Given the description of an element on the screen output the (x, y) to click on. 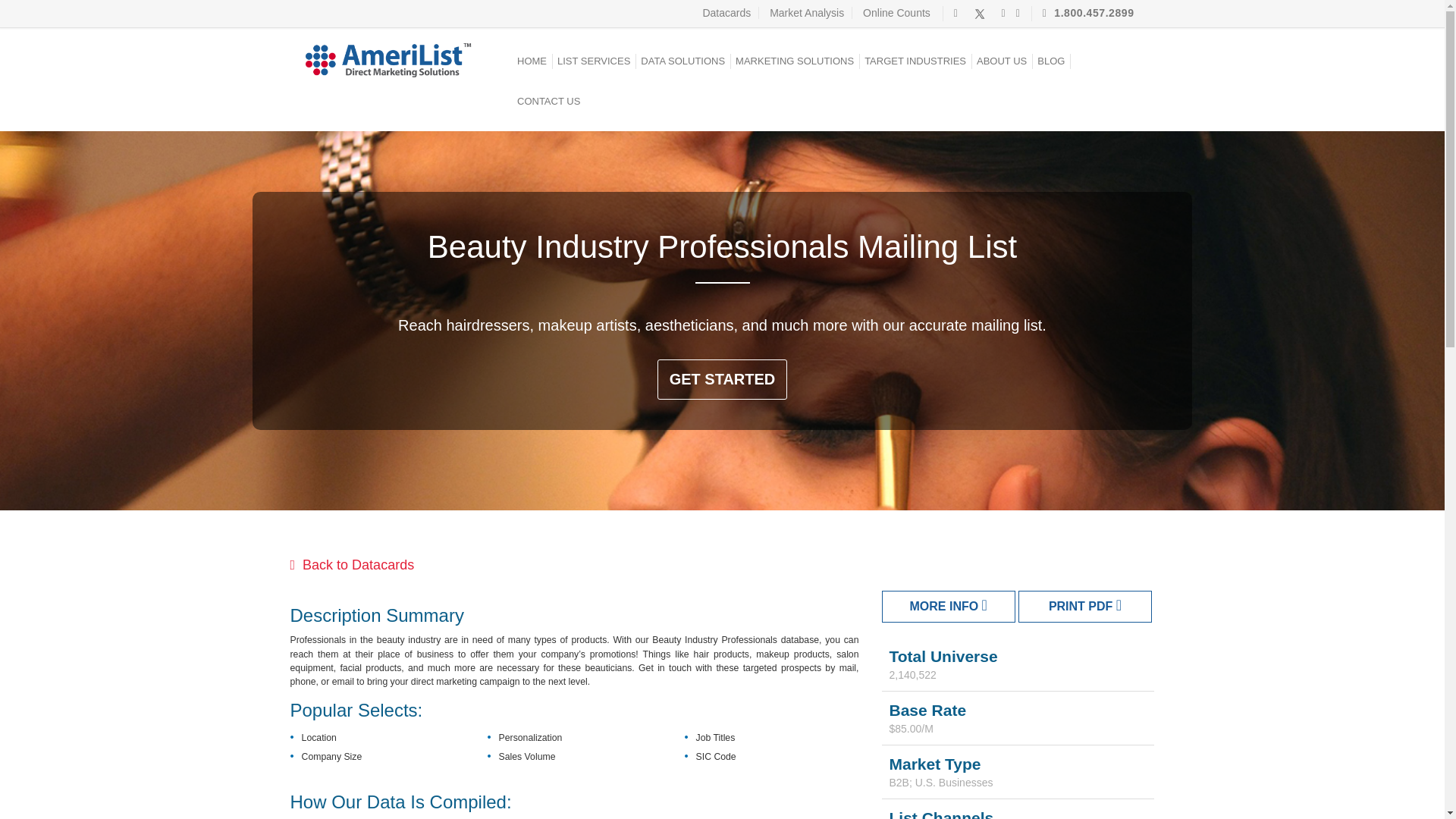
1.800.457.2899 (1084, 12)
twitter (979, 12)
HOME (531, 67)
Datacards (729, 12)
List Services (592, 67)
Home (531, 67)
Datacards (729, 12)
Market Analysis (806, 12)
Online Counts (896, 12)
Online Counts (896, 12)
DATA SOLUTIONS (682, 67)
LIST SERVICES (592, 67)
Market Analysis (806, 12)
